Given the description of an element on the screen output the (x, y) to click on. 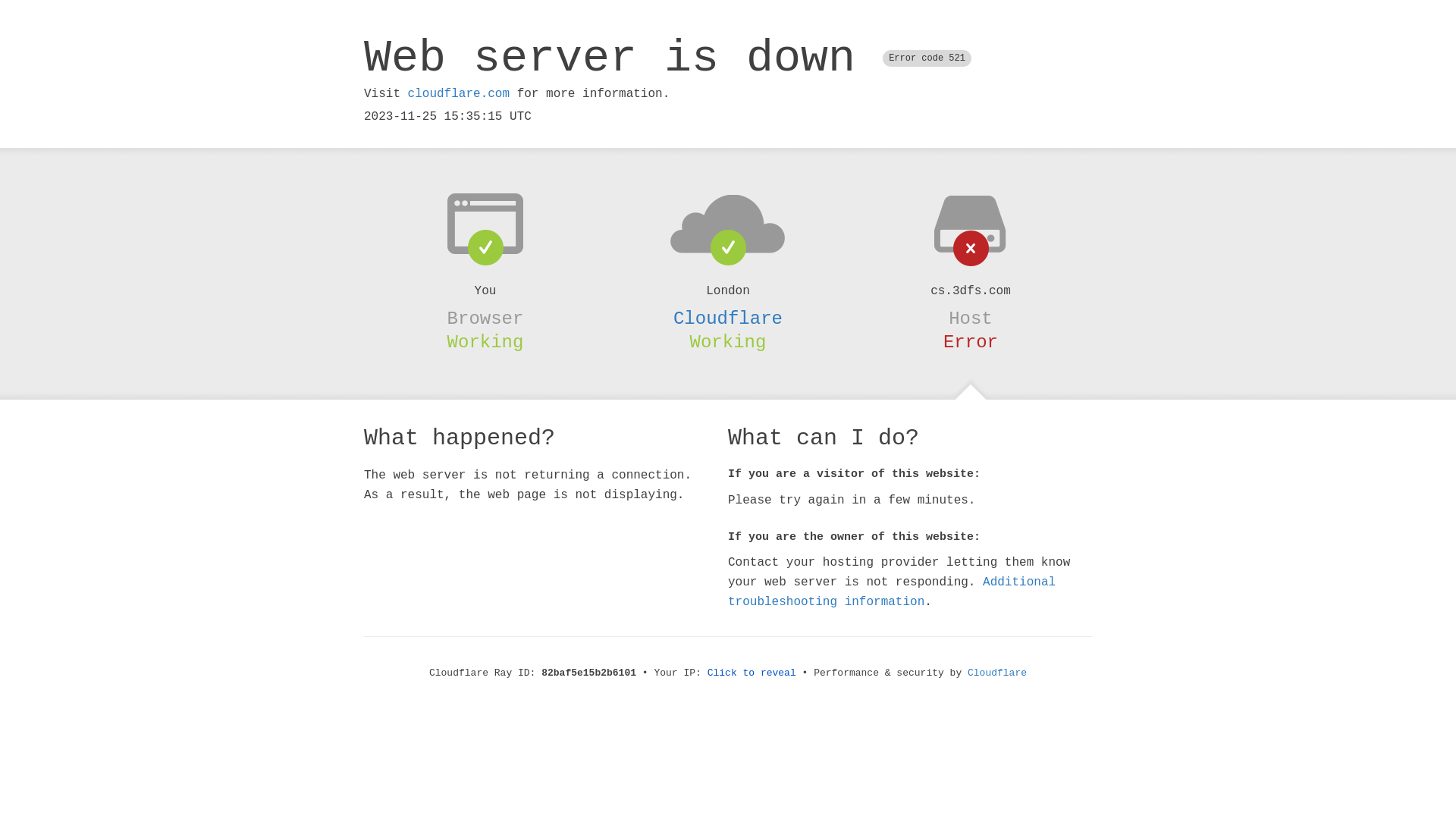
Cloudflare Element type: text (996, 672)
Click to reveal Element type: text (751, 672)
Cloudflare Element type: text (727, 318)
cloudflare.com Element type: text (458, 93)
Additional troubleshooting information Element type: text (891, 591)
